Given the description of an element on the screen output the (x, y) to click on. 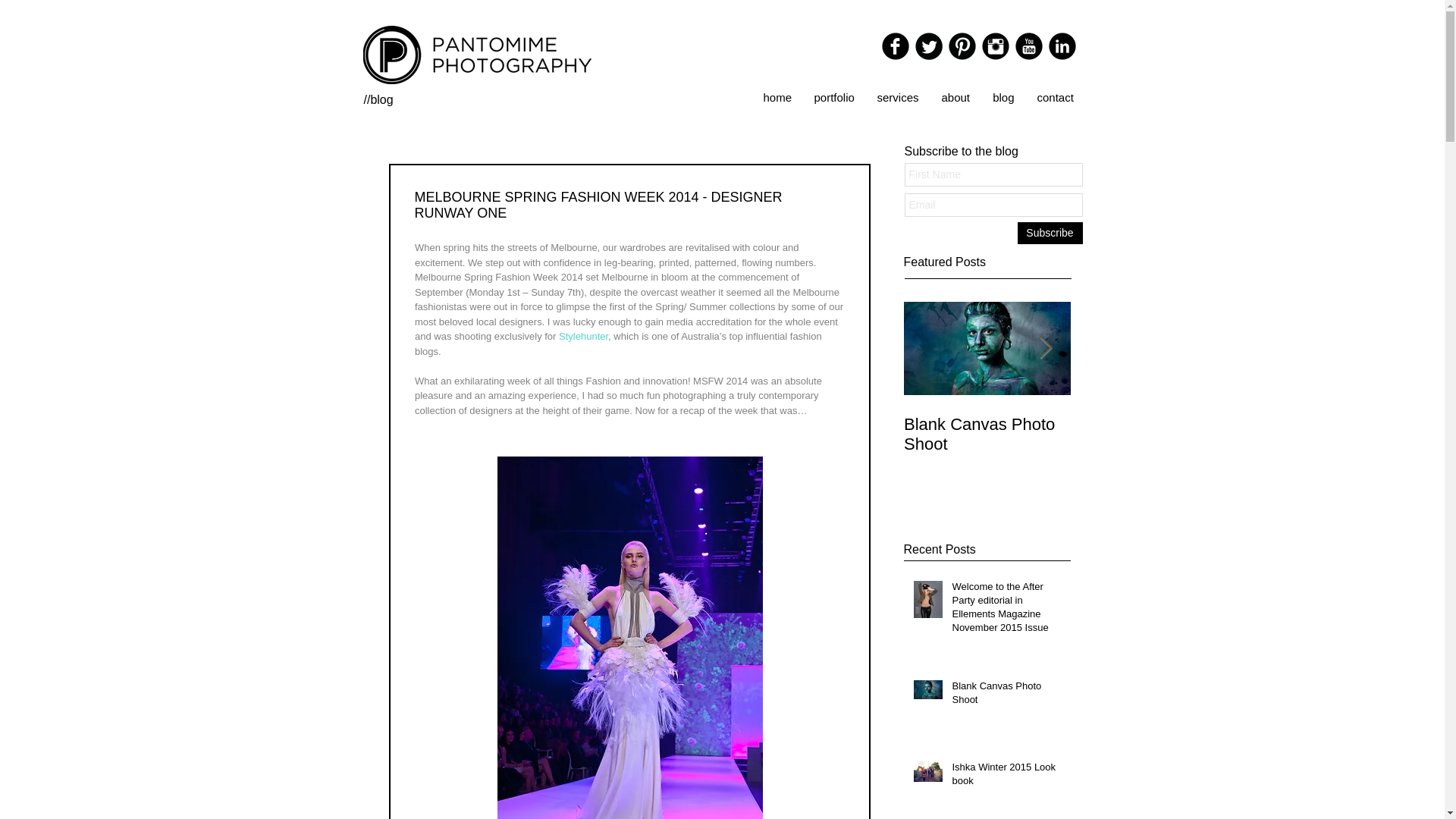
about (954, 97)
Subscribe (1050, 232)
pantomime-photgraphy-logo-h.png (476, 54)
portfolio (833, 97)
Stylehunter (583, 336)
blog (1003, 97)
home (777, 97)
Blank Canvas Photo Shoot (987, 434)
services (897, 97)
contact (1054, 97)
